Given the description of an element on the screen output the (x, y) to click on. 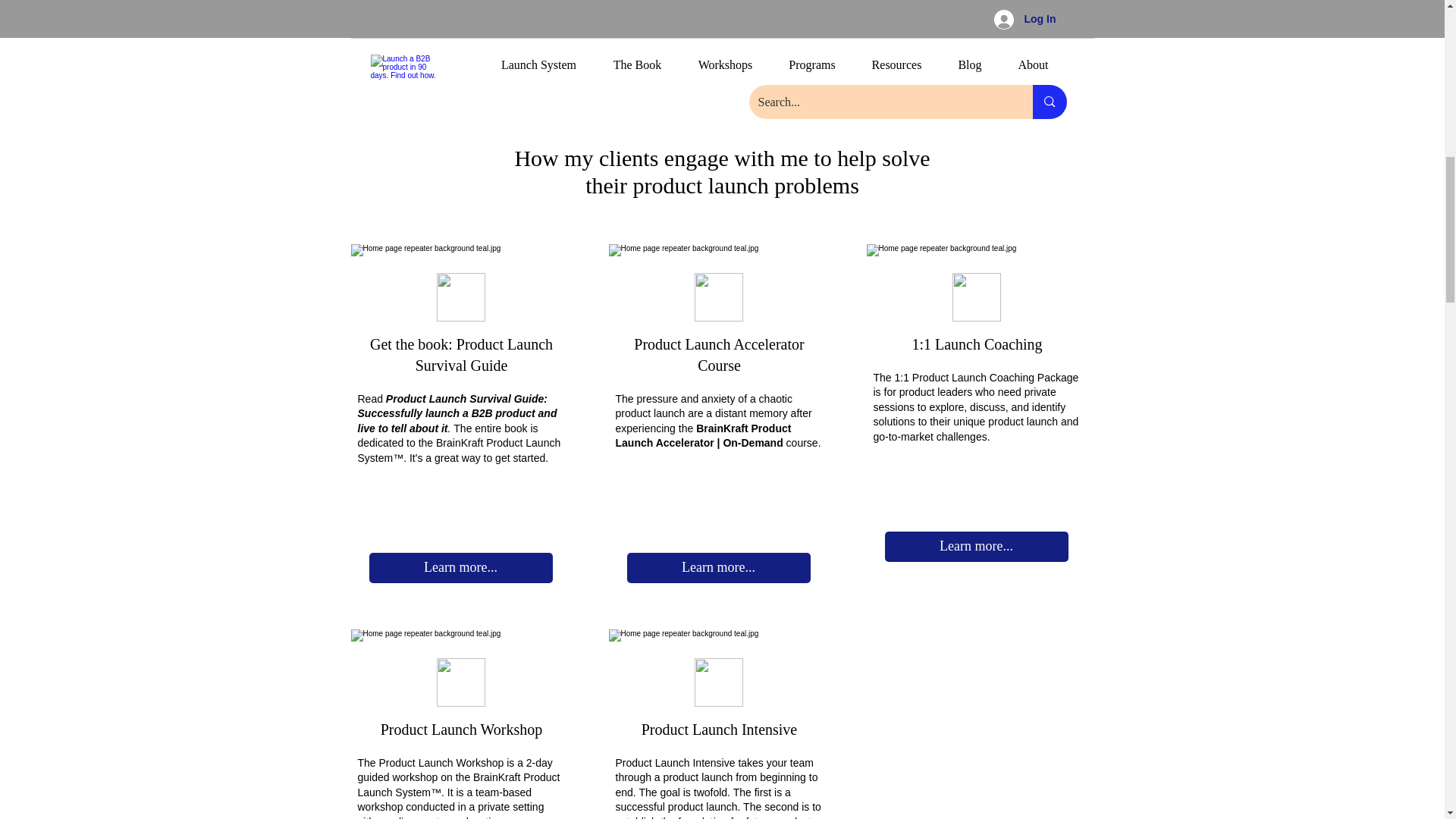
open-book.png (460, 296)
Learn more... (717, 567)
meeting-2.png (976, 296)
rocket-2.png (718, 682)
Schedule a Free Launch Coaching Call (481, 72)
Learn more... (975, 546)
Learn more... (459, 567)
training.png (460, 682)
speedometer.png (718, 296)
